Given the description of an element on the screen output the (x, y) to click on. 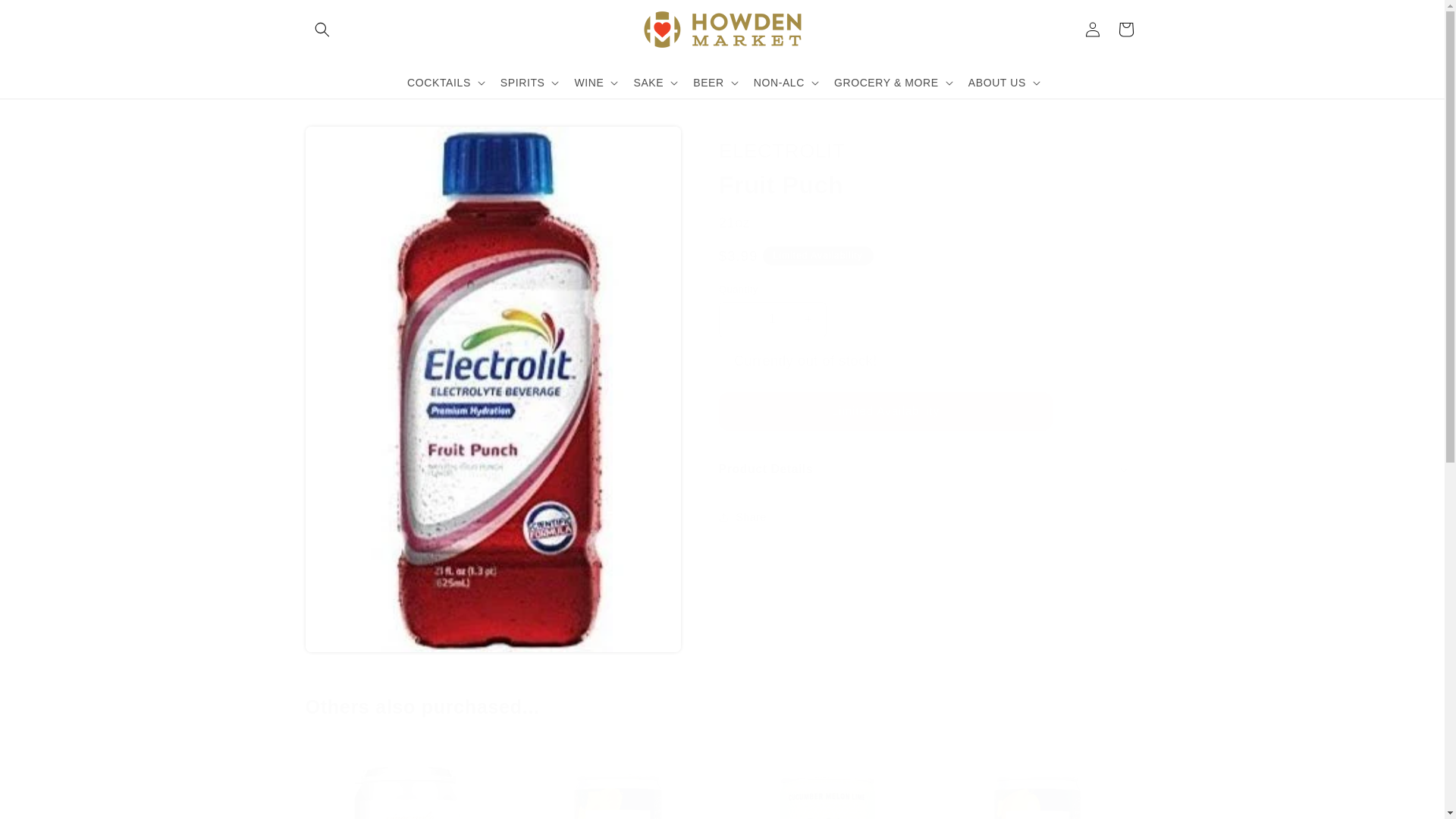
1 (773, 319)
Skip to content (47, 18)
